Given the description of an element on the screen output the (x, y) to click on. 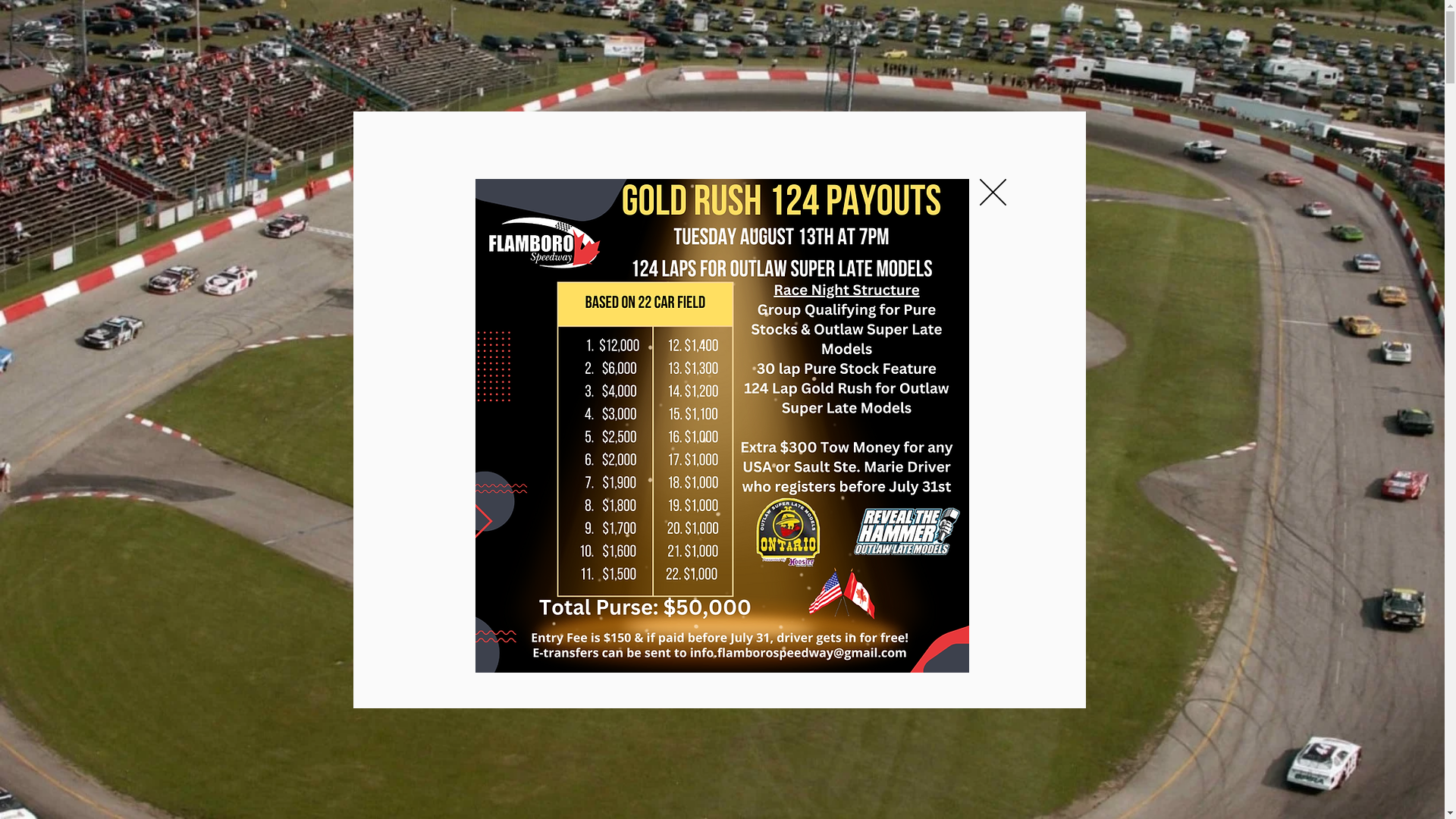
Posts for Main Page (502, 492)
SCHEDULE (467, 31)
Back to site (992, 192)
ALL POSTS (395, 492)
HOME (383, 31)
GALLERY (884, 31)
Flamboro Speedway (516, 595)
LATEST NEWS (574, 31)
Flamboro Speedway (521, 596)
